Given the description of an element on the screen output the (x, y) to click on. 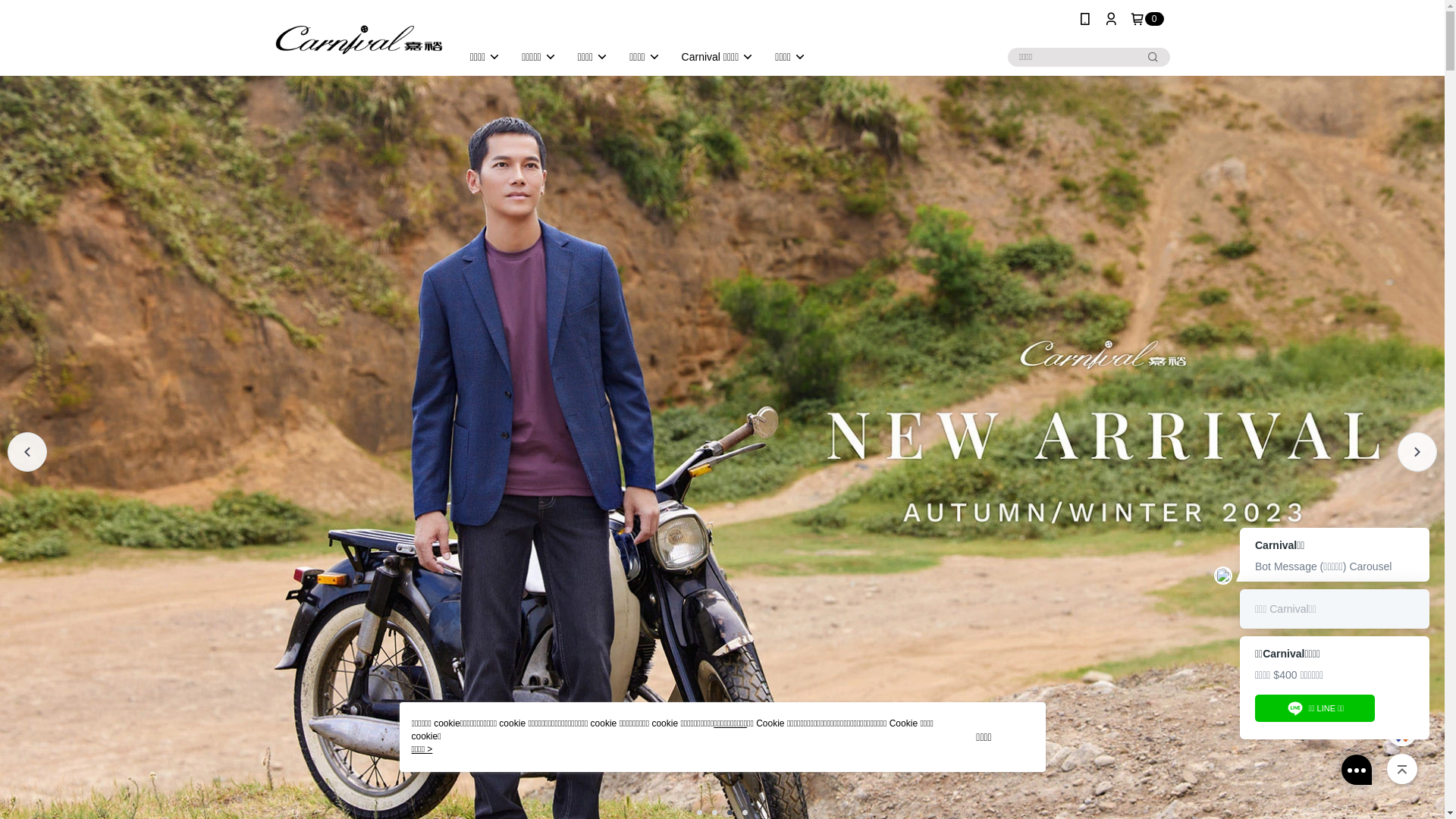
0 Element type: text (1146, 18)
